Given the description of an element on the screen output the (x, y) to click on. 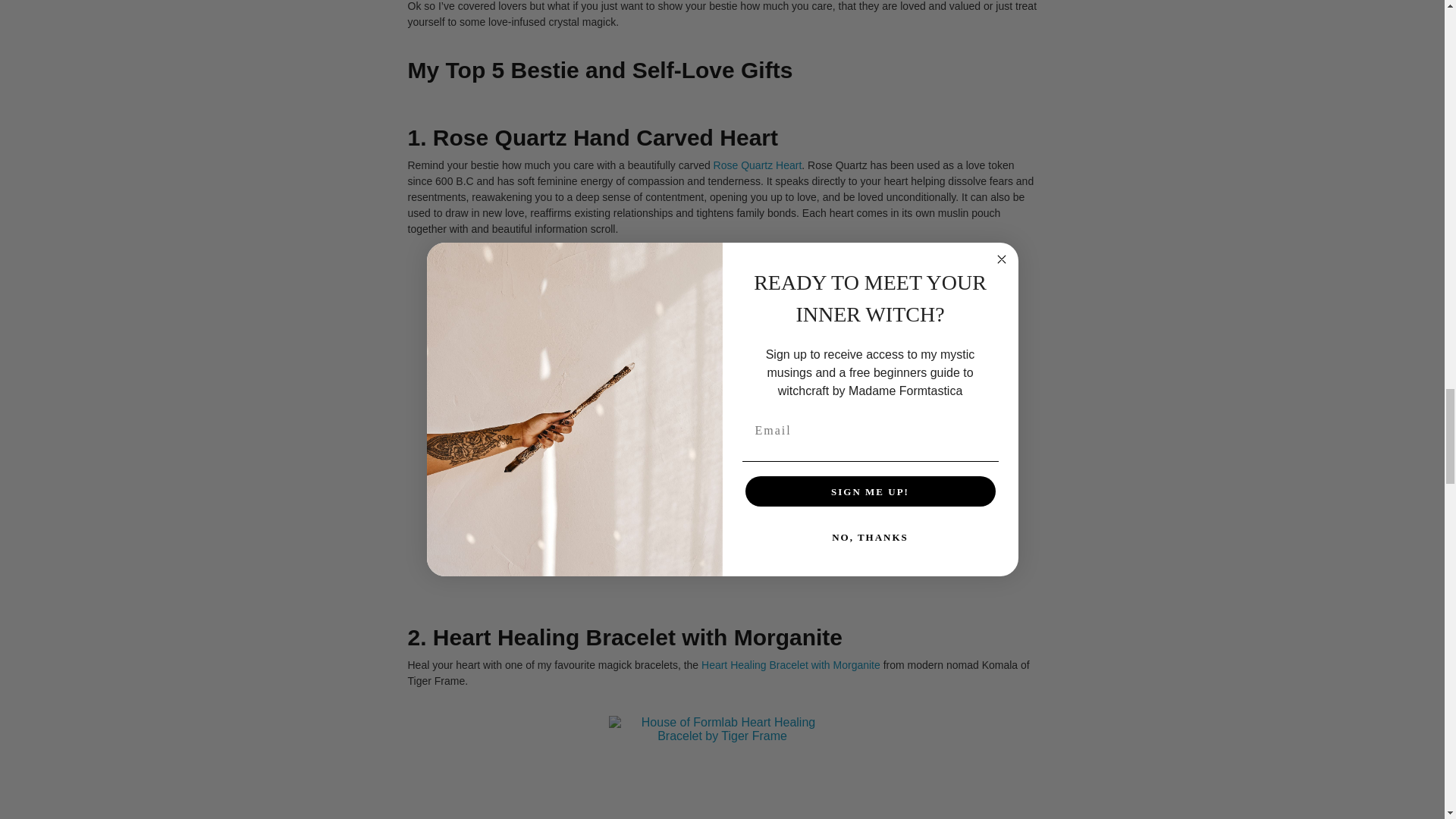
Rose Quartz Heart (757, 164)
House-of-Formlab-Tiger-Frame-Morganite-Bracelet-001 (721, 767)
Heart Healing Bracelet with Morganite (790, 664)
